Given the description of an element on the screen output the (x, y) to click on. 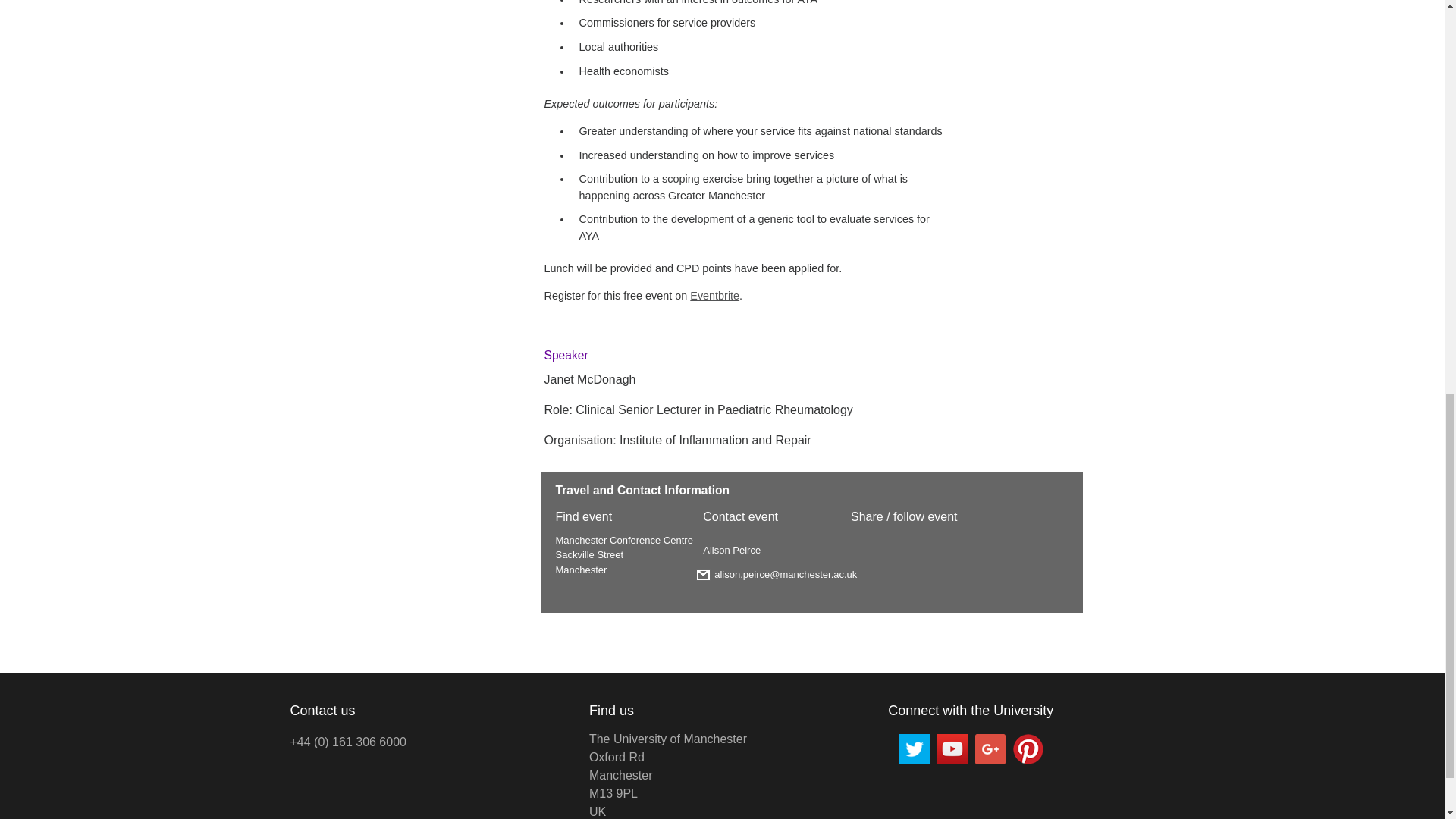
Eventbrite (714, 295)
